Given the description of an element on the screen output the (x, y) to click on. 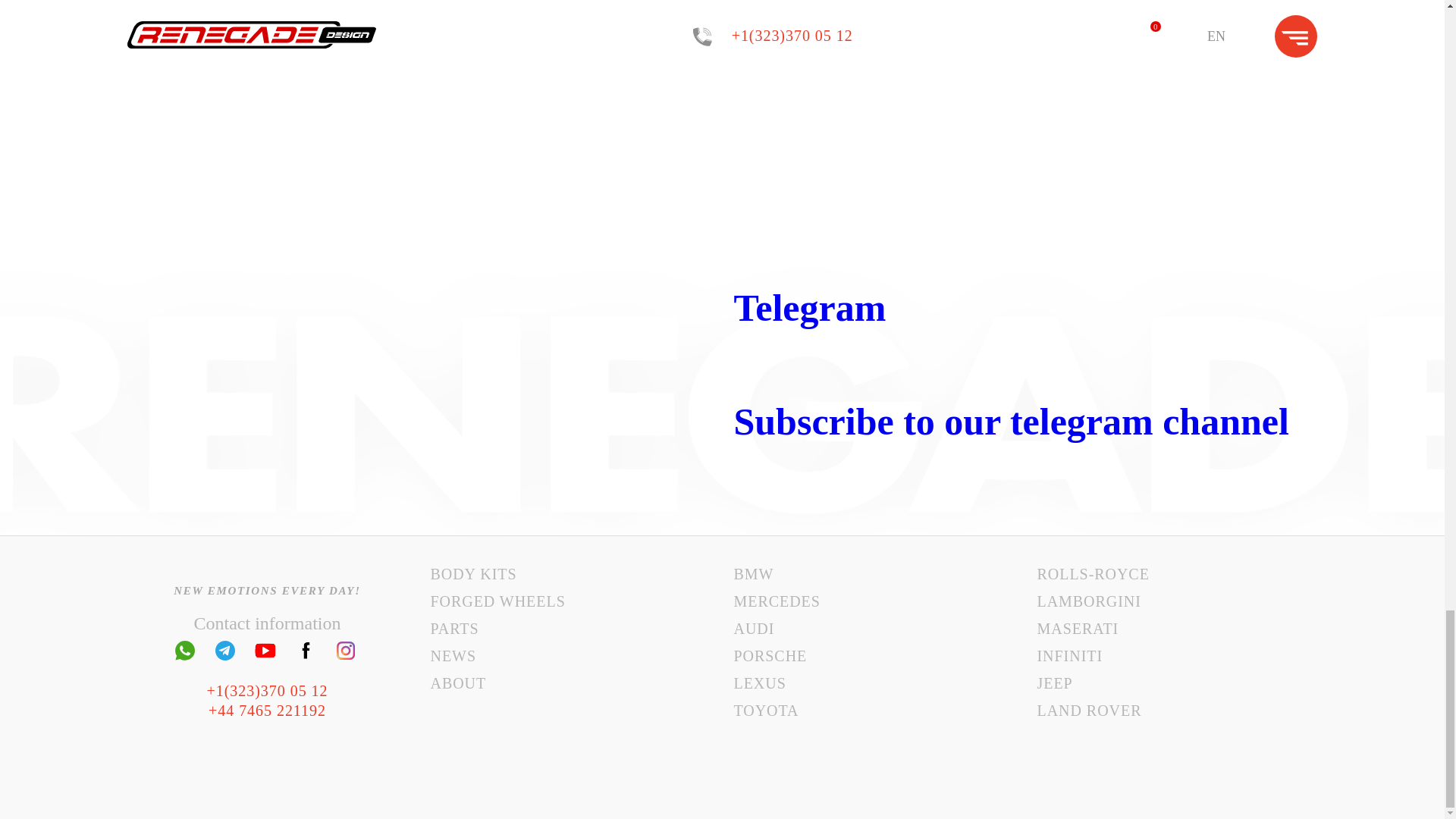
instagram of renegade (345, 650)
facebook of renegade (304, 650)
youtube of renegade (265, 650)
whatsApp (185, 650)
telegram of renegade (224, 650)
